Given the description of an element on the screen output the (x, y) to click on. 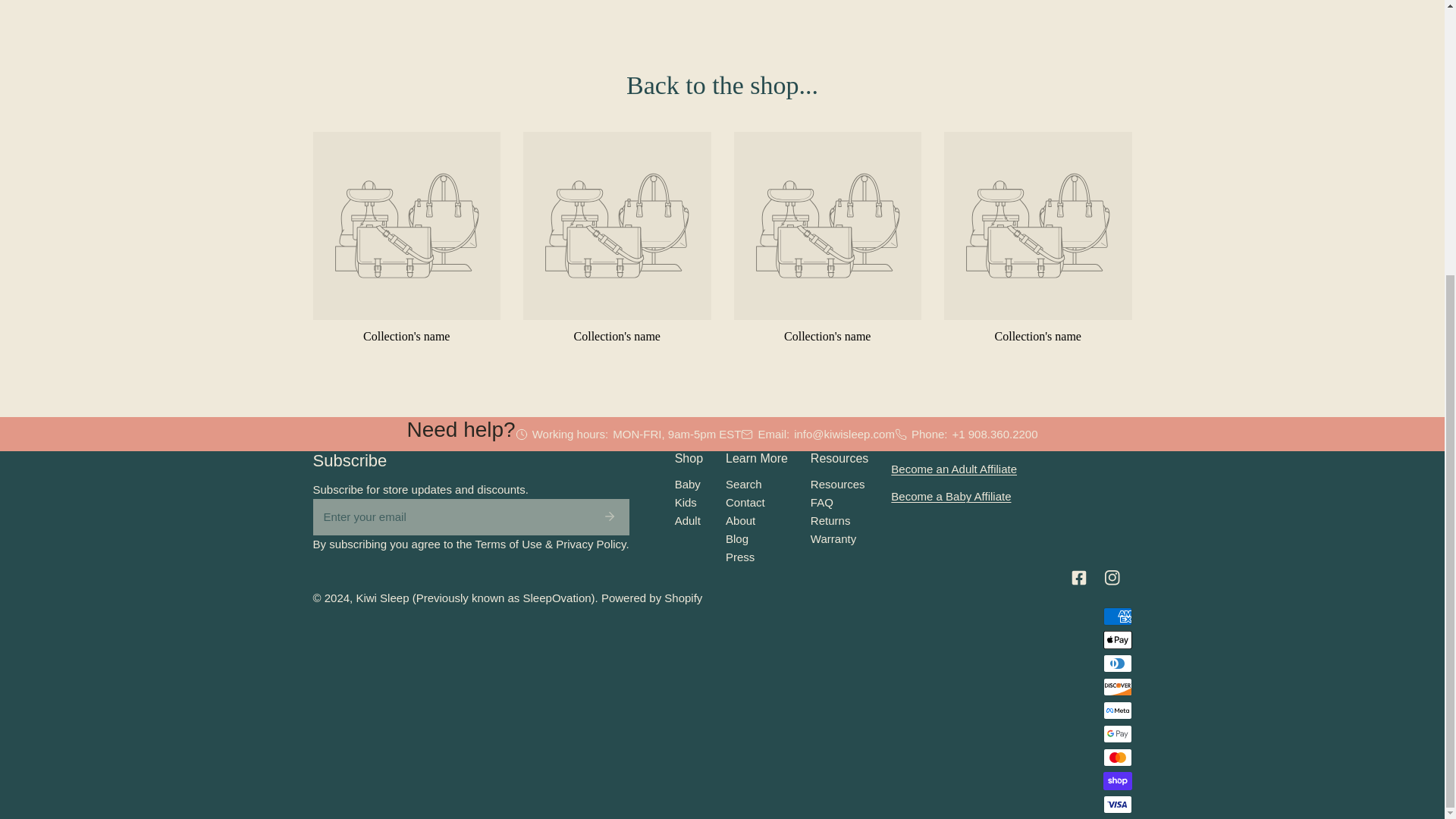
Mastercard (1116, 757)
Search (743, 483)
Diners Club (1116, 663)
About (740, 520)
Contact (745, 502)
Google Pay (1116, 733)
Privacy Policy. (592, 543)
Shop Pay (1116, 781)
Visa (1116, 804)
Returns (830, 520)
Instagram (1114, 577)
Blog (736, 538)
Baby (687, 483)
Terms of Use (508, 543)
Press (739, 556)
